Given the description of an element on the screen output the (x, y) to click on. 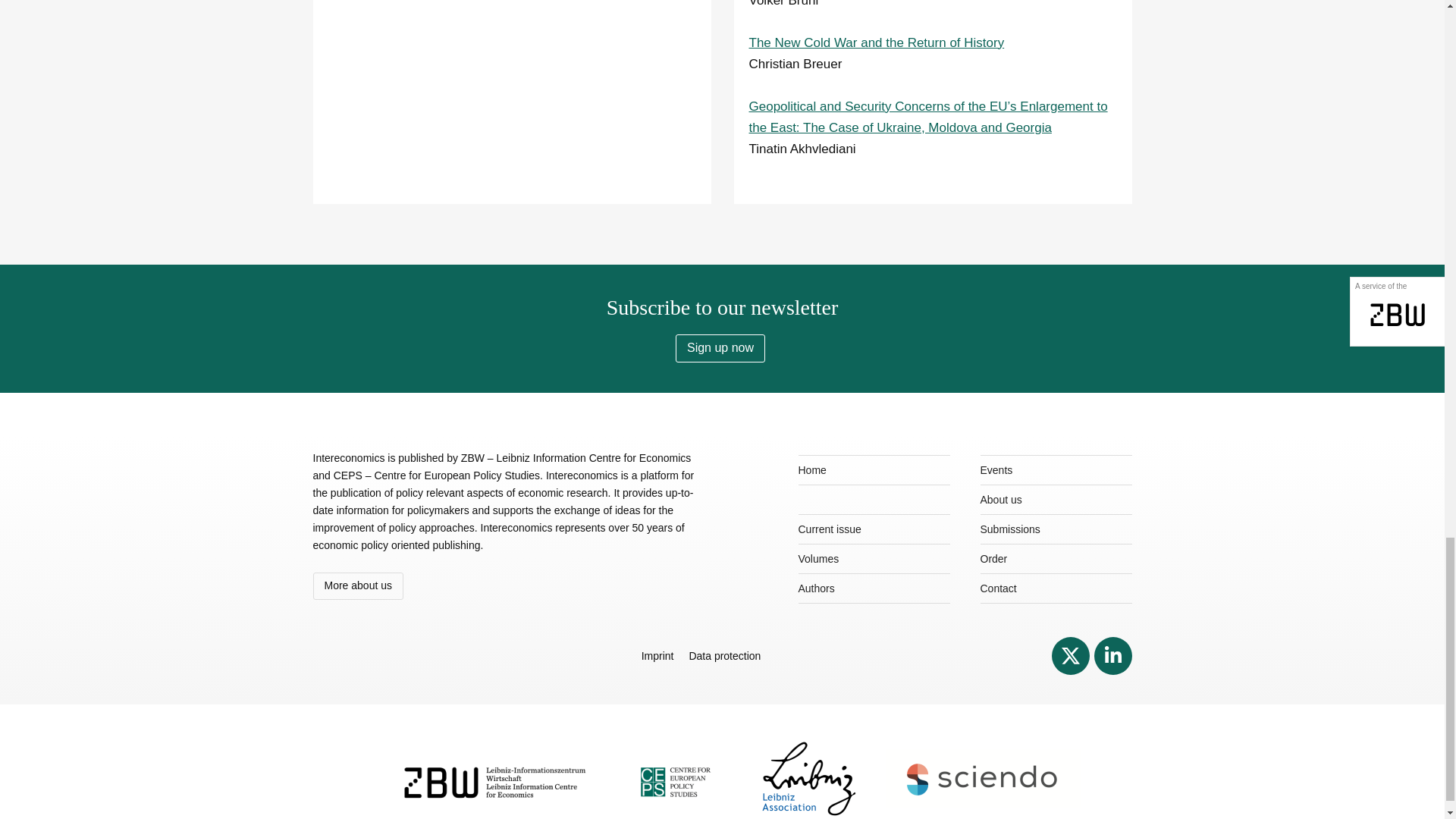
Intereconomics on LinkedIn (1112, 655)
Intereconomics on X (1070, 655)
